Given the description of an element on the screen output the (x, y) to click on. 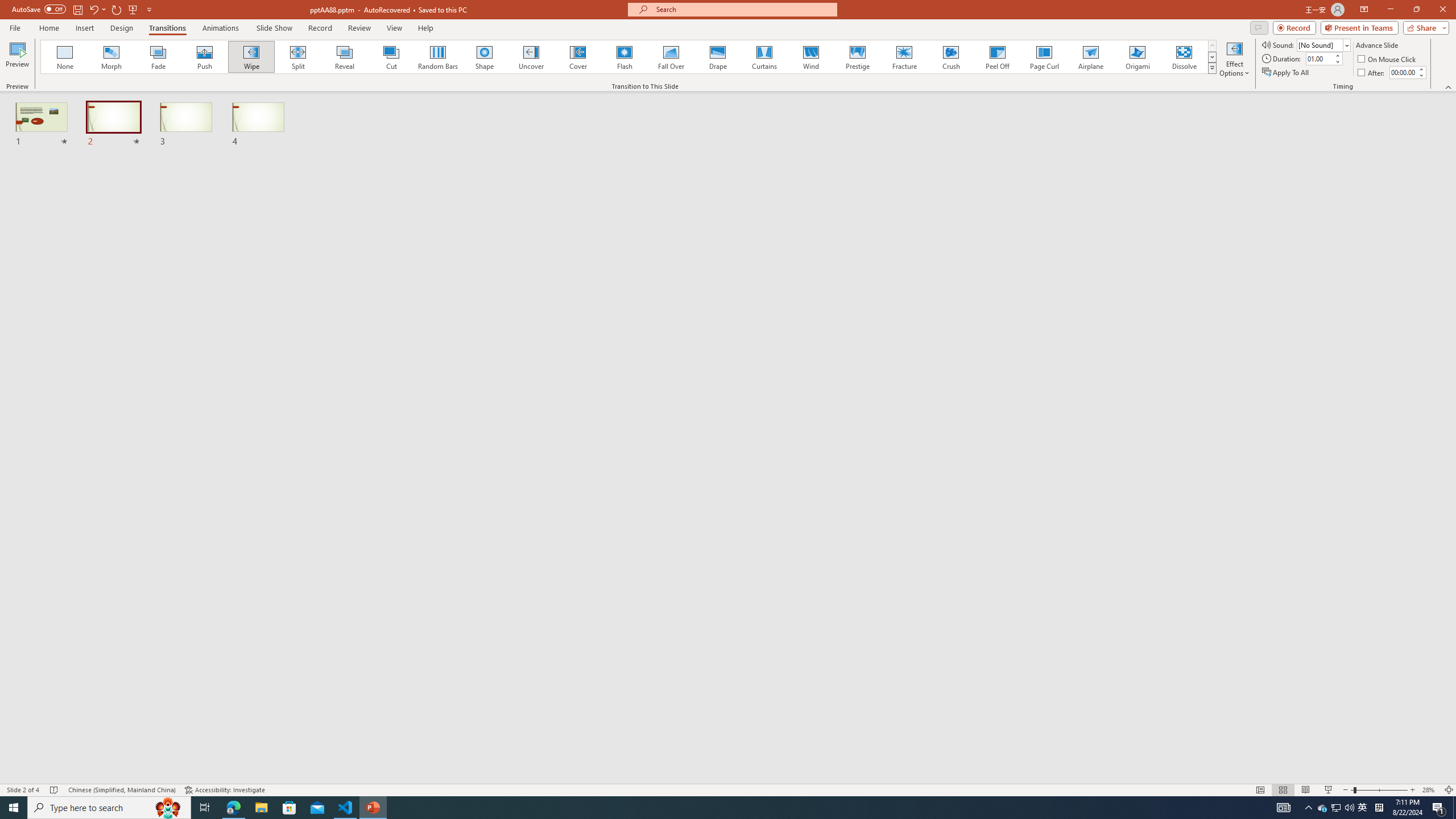
AutomationID: AnimationTransitionGallery (628, 56)
Page Curl (1043, 56)
Zoom 28% (1430, 790)
Morph (111, 56)
Duration (1319, 58)
Origami (1136, 56)
